Given the description of an element on the screen output the (x, y) to click on. 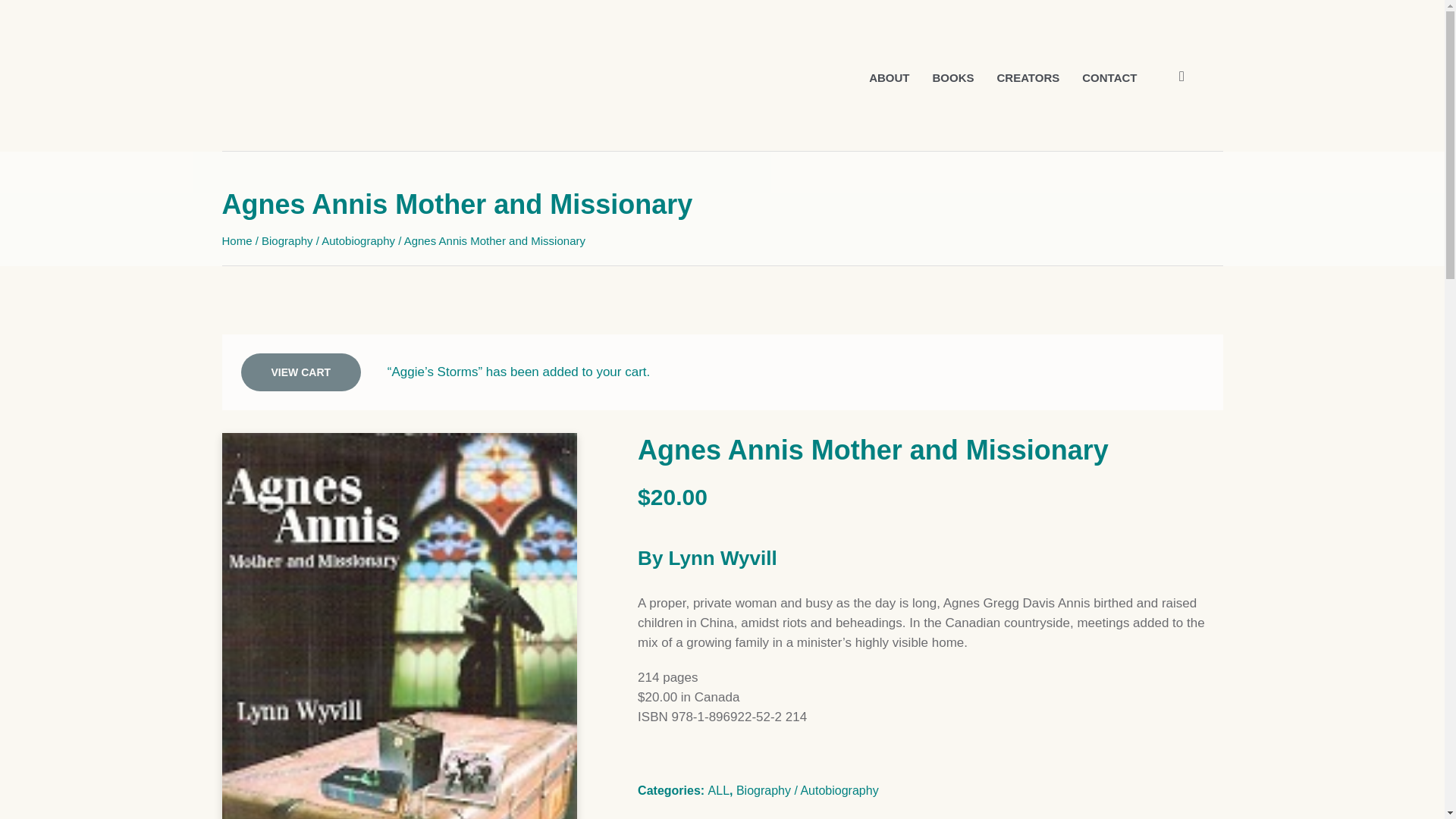
CONTACT (1109, 77)
CREATORS (1027, 77)
VIEW CART (301, 371)
BOOKS (952, 77)
ALL (718, 789)
ABOUT (888, 77)
Home (236, 240)
Lynn Wyvill (722, 558)
